Given the description of an element on the screen output the (x, y) to click on. 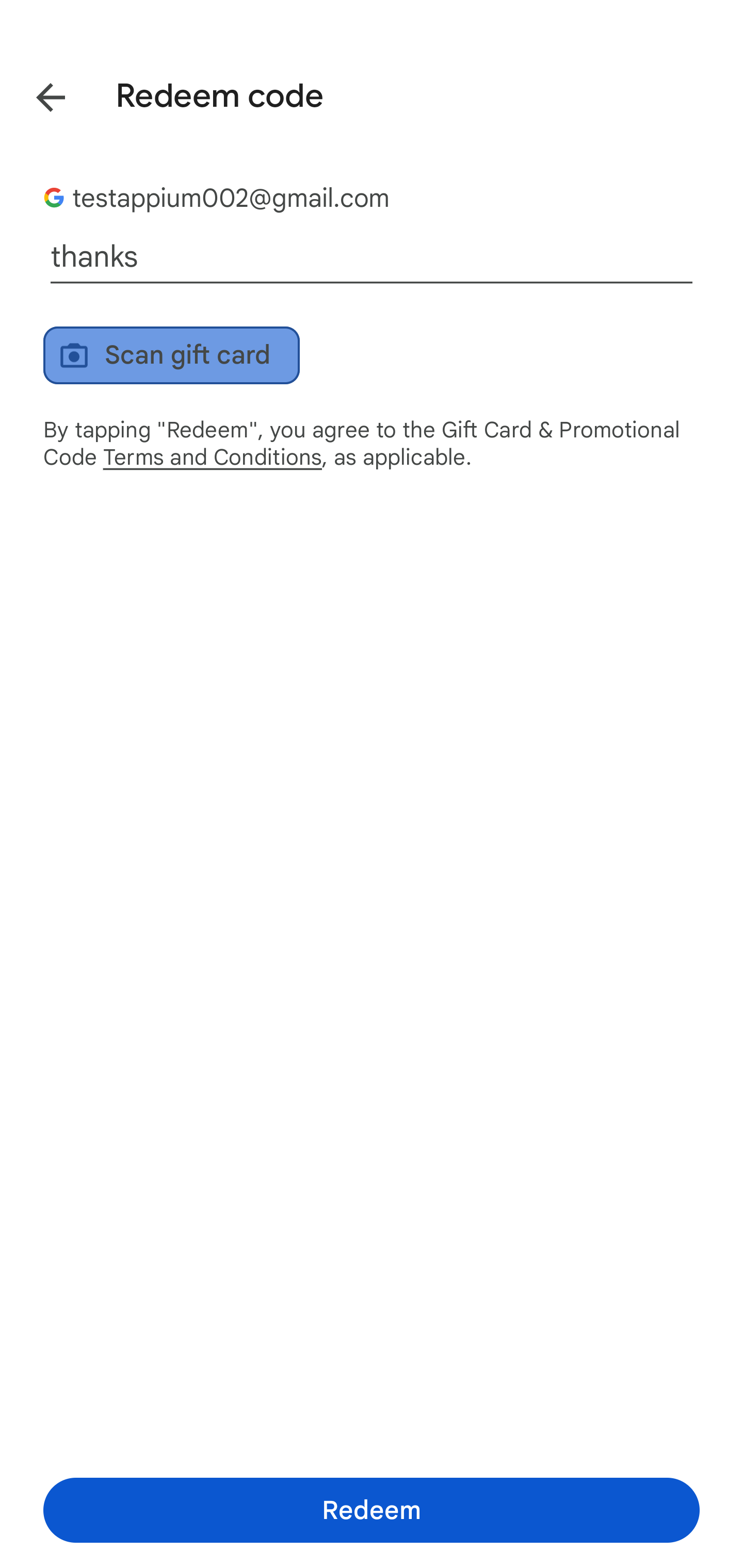
Back (36, 94)
thanks (371, 256)
Scan gift card (171, 355)
Redeem (371, 1509)
